Given the description of an element on the screen output the (x, y) to click on. 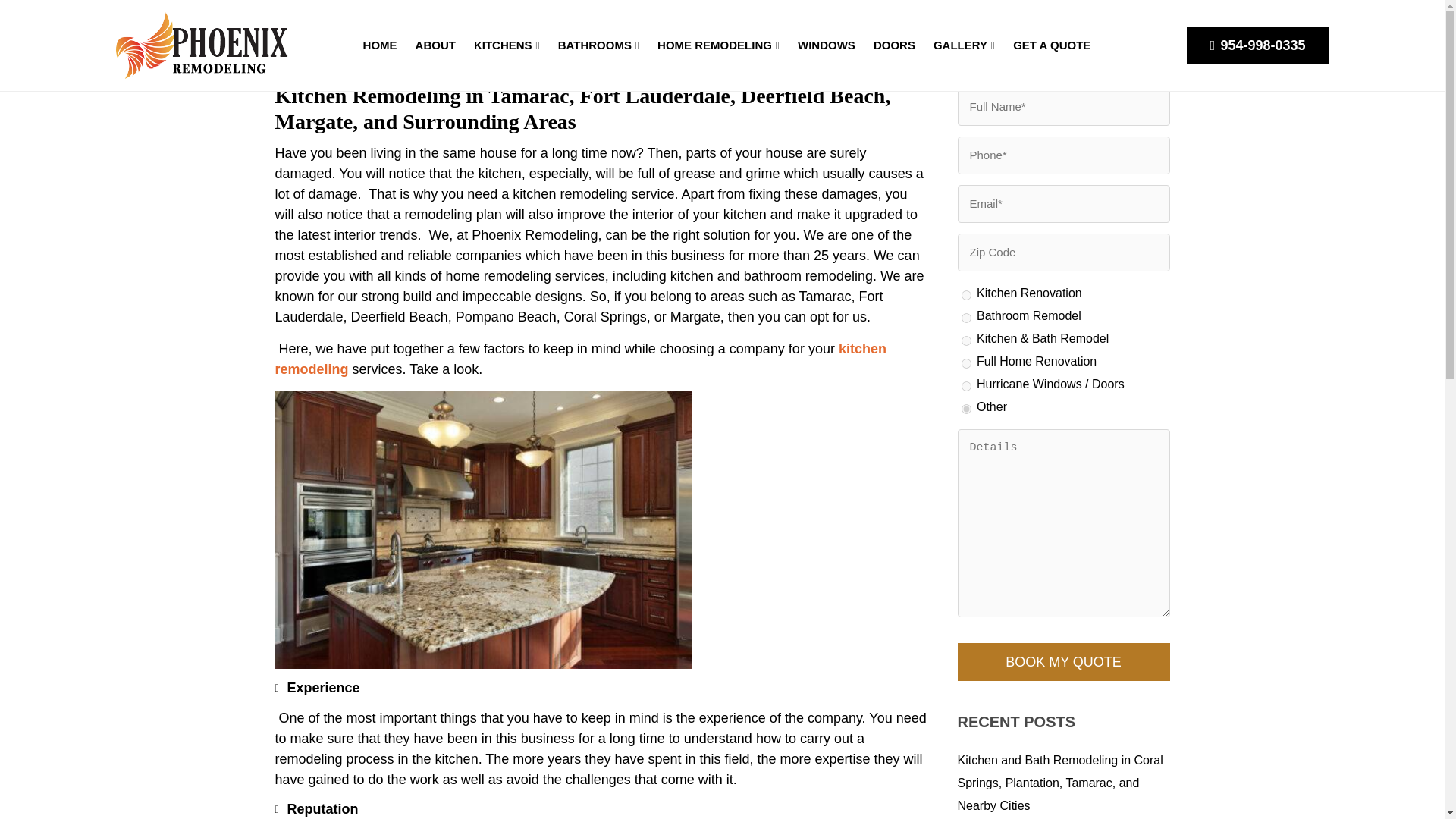
BOOK MY QUOTE (1062, 661)
Full Home Renovation (965, 363)
GALLERY (964, 45)
BOOK MY QUOTE (1062, 661)
KITCHENS (506, 45)
ABOUT (435, 45)
GET A QUOTE (1050, 45)
Other (965, 409)
kitchen remodeling (580, 358)
Kitchen Renovation (965, 295)
